Given the description of an element on the screen output the (x, y) to click on. 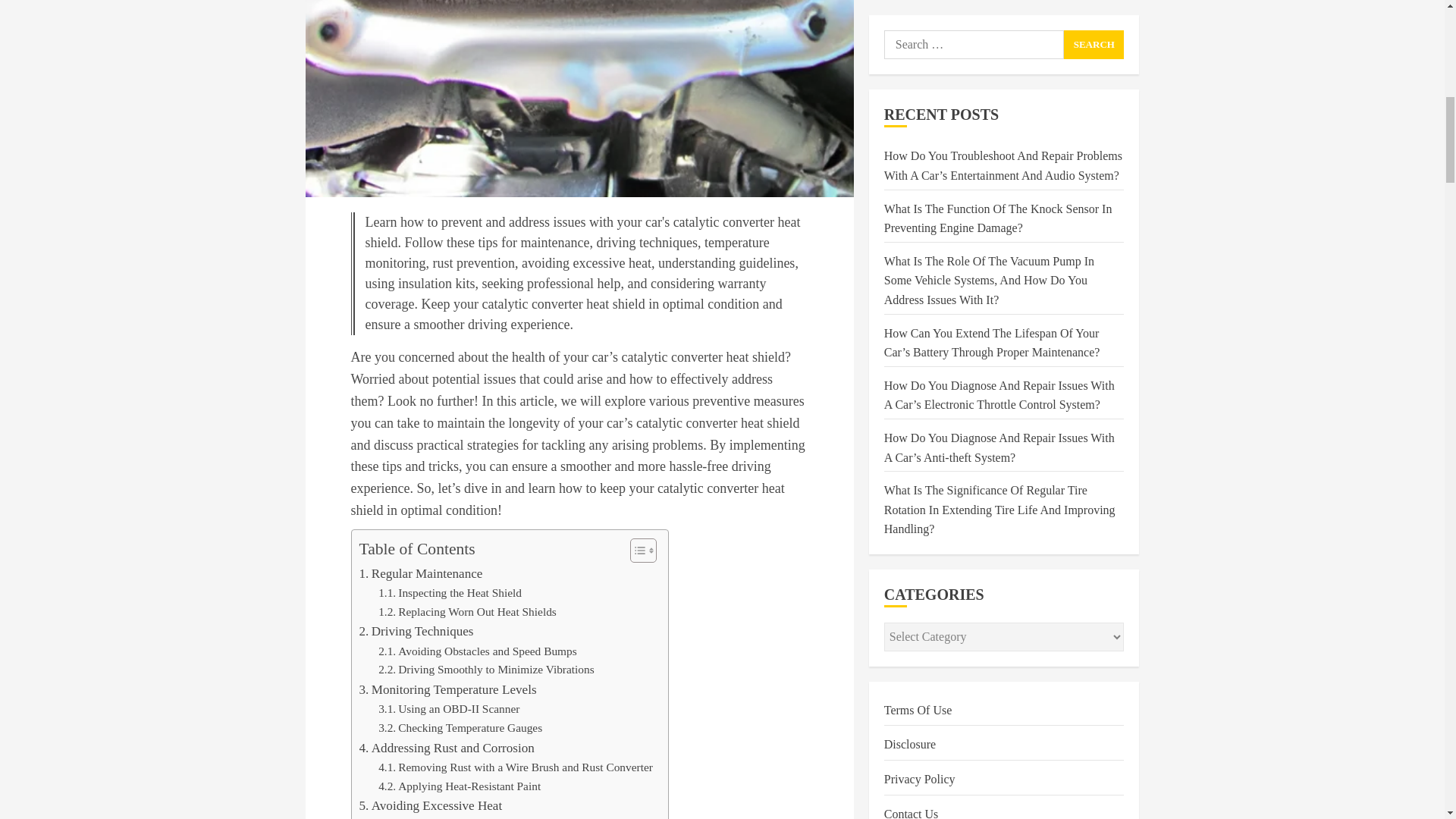
Avoiding Obstacles and Speed Bumps (477, 651)
Applying Heat-Resistant Paint (459, 786)
Driving Smoothly to Minimize Vibrations (486, 669)
Regular Maintenance (421, 573)
Applying Heat-Resistant Paint (459, 786)
Addressing Rust and Corrosion (446, 747)
Avoiding Obstacles and Speed Bumps (477, 651)
Replacing Worn Out Heat Shields (467, 611)
Checking Temperature Gauges (459, 728)
Driving Techniques (416, 630)
Monitoring Temperature Levels (448, 689)
Checking Temperature Gauges (459, 728)
Regular Maintenance (421, 573)
Using an OBD-II Scanner (448, 709)
Avoiding Excessive Heat (430, 805)
